Given the description of an element on the screen output the (x, y) to click on. 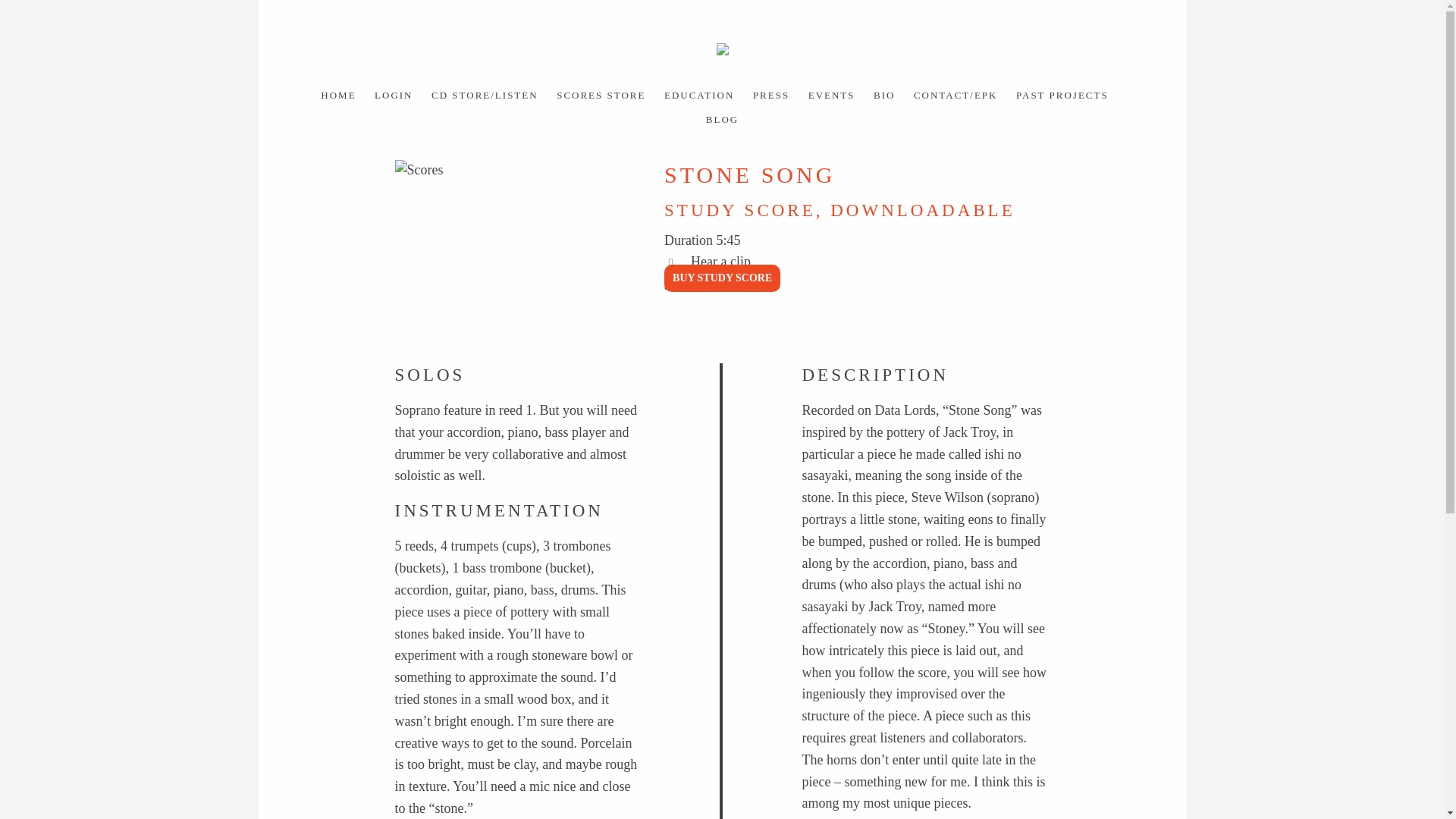
LOGIN (393, 94)
BIO (884, 94)
EDUCATION (698, 94)
BLOG (722, 119)
SCORES STORE (600, 94)
EVENTS (832, 94)
PRESS (770, 94)
Hear a clip (720, 261)
BUY STUDY SCORE (721, 277)
HOME (337, 94)
